Given the description of an element on the screen output the (x, y) to click on. 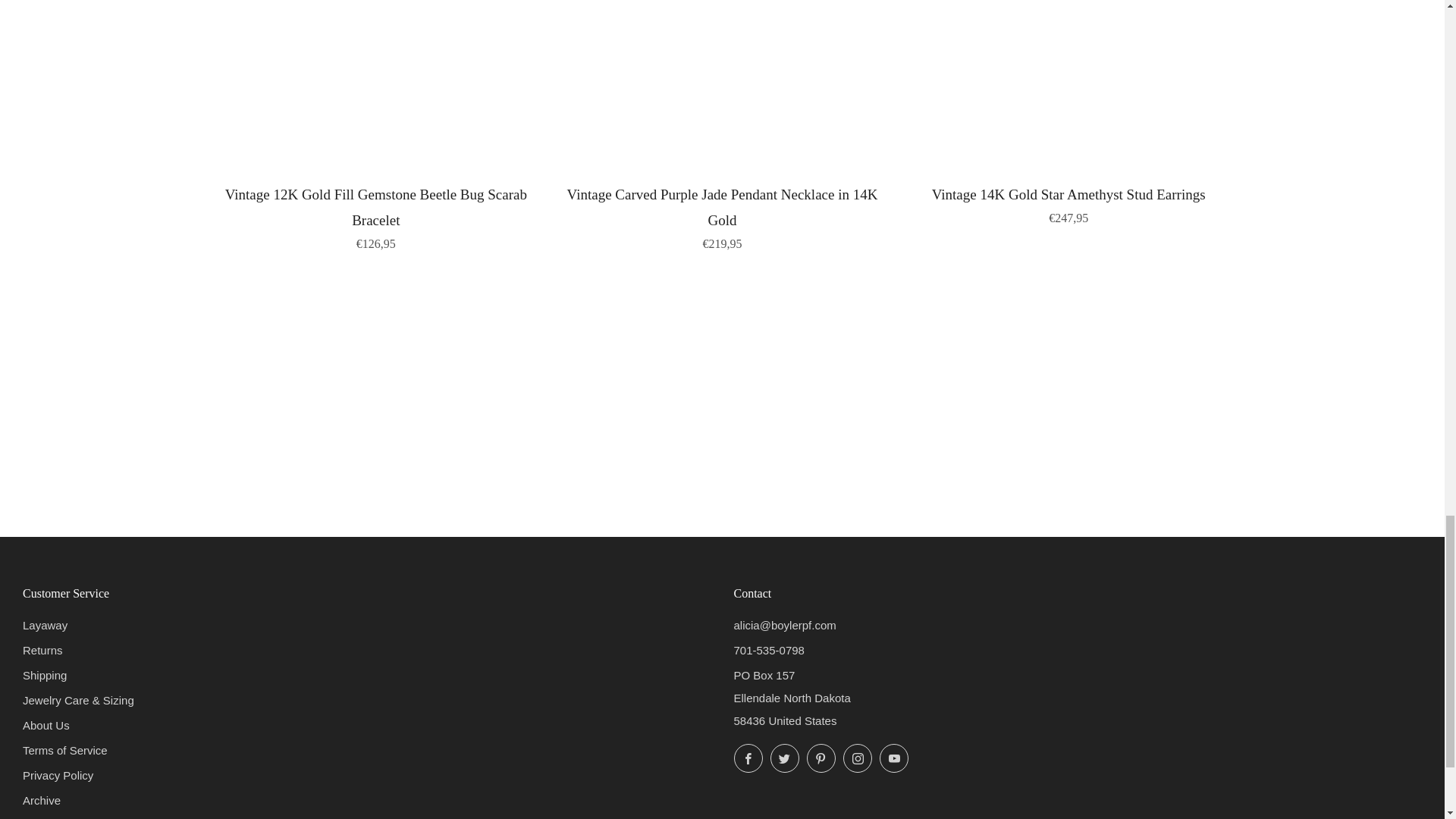
Vintage Carved Purple Jade Pendant Necklace in 14K Gold (721, 215)
Vintage 14K Gold Star Amethyst Stud Earrings (1068, 202)
Vintage 12K Gold Fill Gemstone Beetle Bug Scarab Bracelet (376, 215)
